Given the description of an element on the screen output the (x, y) to click on. 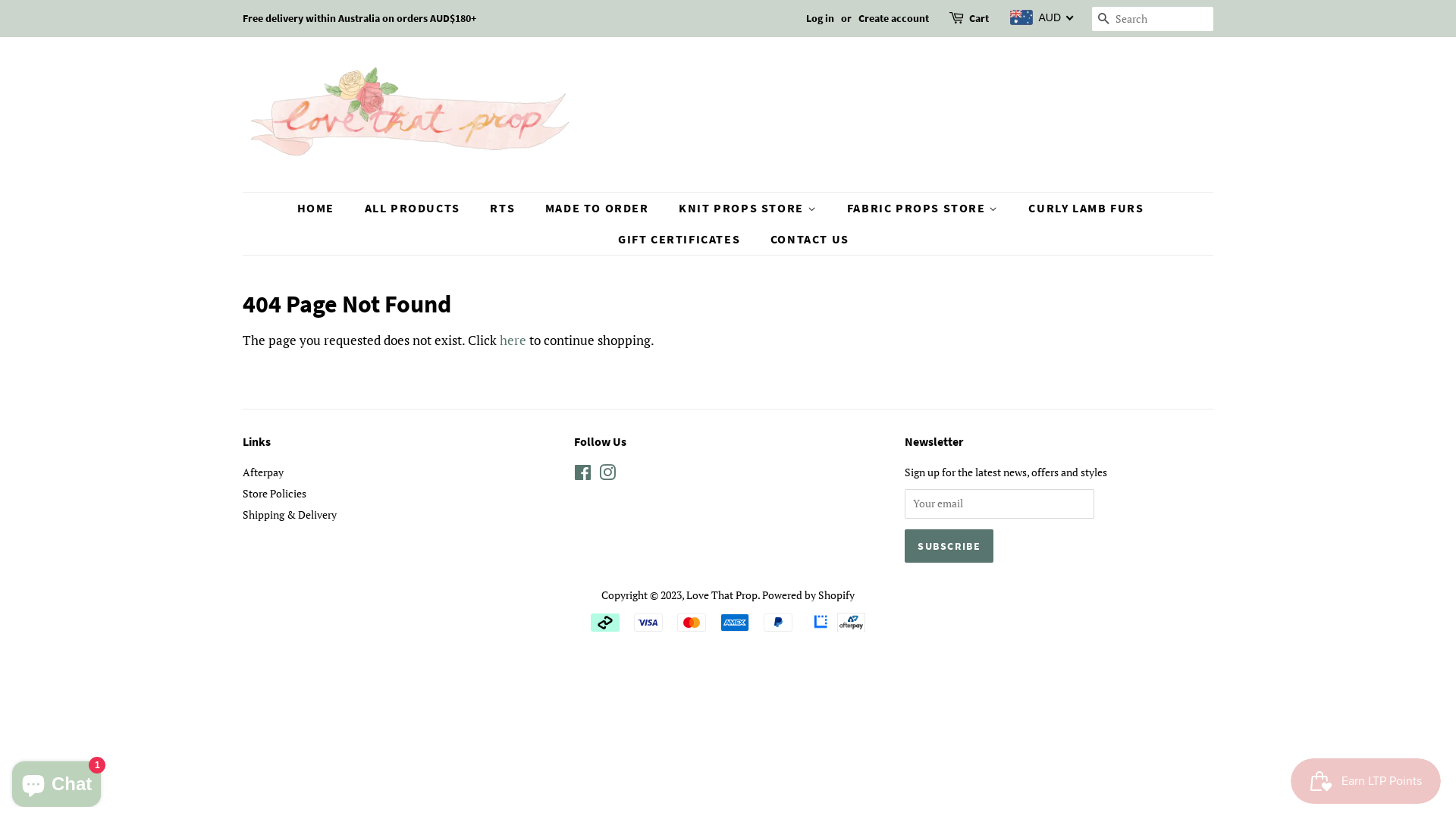
RTS Element type: text (504, 207)
Shopify online store chat Element type: hover (56, 780)
Instagram Element type: text (607, 474)
Create account Element type: text (893, 18)
Afterpay Element type: text (262, 471)
Cart Element type: text (978, 18)
MADE TO ORDER Element type: text (598, 207)
CURLY LAMB FURS Element type: text (1087, 207)
GIFT CERTIFICATES Element type: text (680, 238)
Love That Prop Element type: text (721, 594)
here Element type: text (512, 339)
Shipping & Delivery Element type: text (289, 514)
KNIT PROPS STORE Element type: text (749, 207)
FABRIC PROPS STORE Element type: text (924, 207)
Powered by Shopify Element type: text (808, 594)
ALL PRODUCTS Element type: text (414, 207)
Smile.io Rewards Program Launcher Element type: hover (1365, 780)
Facebook Element type: text (582, 474)
Log in Element type: text (820, 18)
CONTACT US Element type: text (804, 238)
HOME Element type: text (323, 207)
SEARCH Element type: text (1104, 18)
Store Policies Element type: text (274, 493)
Subscribe Element type: text (948, 545)
